Given the description of an element on the screen output the (x, y) to click on. 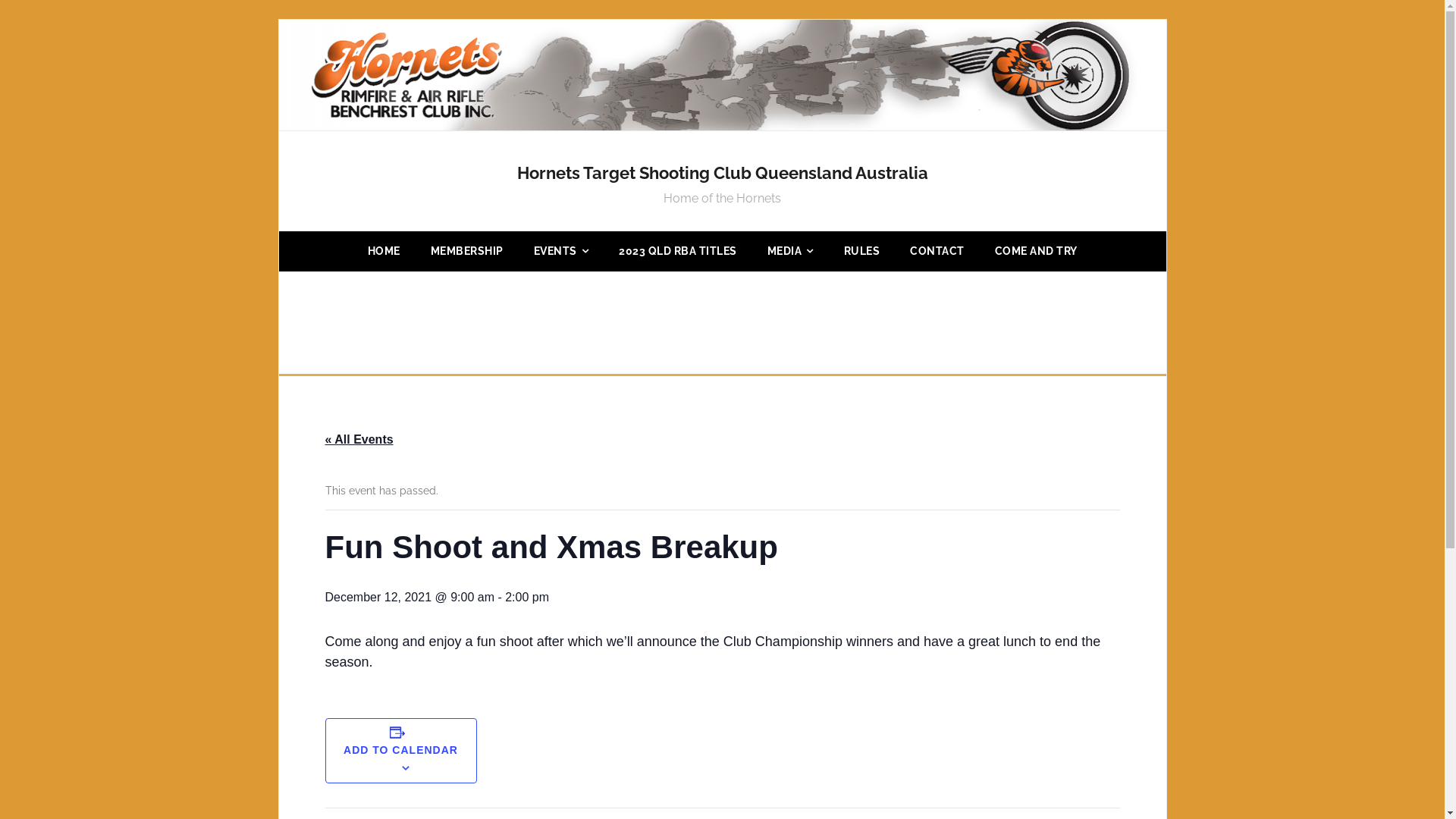
HOME Element type: text (382, 251)
EVENTS Element type: text (561, 251)
MEDIA Element type: text (790, 251)
CONTACT Element type: text (936, 251)
Skip to content Element type: text (277, 18)
RULES Element type: text (861, 251)
COME AND TRY Element type: text (1035, 251)
2023 QLD RBA TITLES Element type: text (677, 251)
MEMBERSHIP Element type: text (466, 251)
ADD TO CALENDAR Element type: text (400, 749)
